Given the description of an element on the screen output the (x, y) to click on. 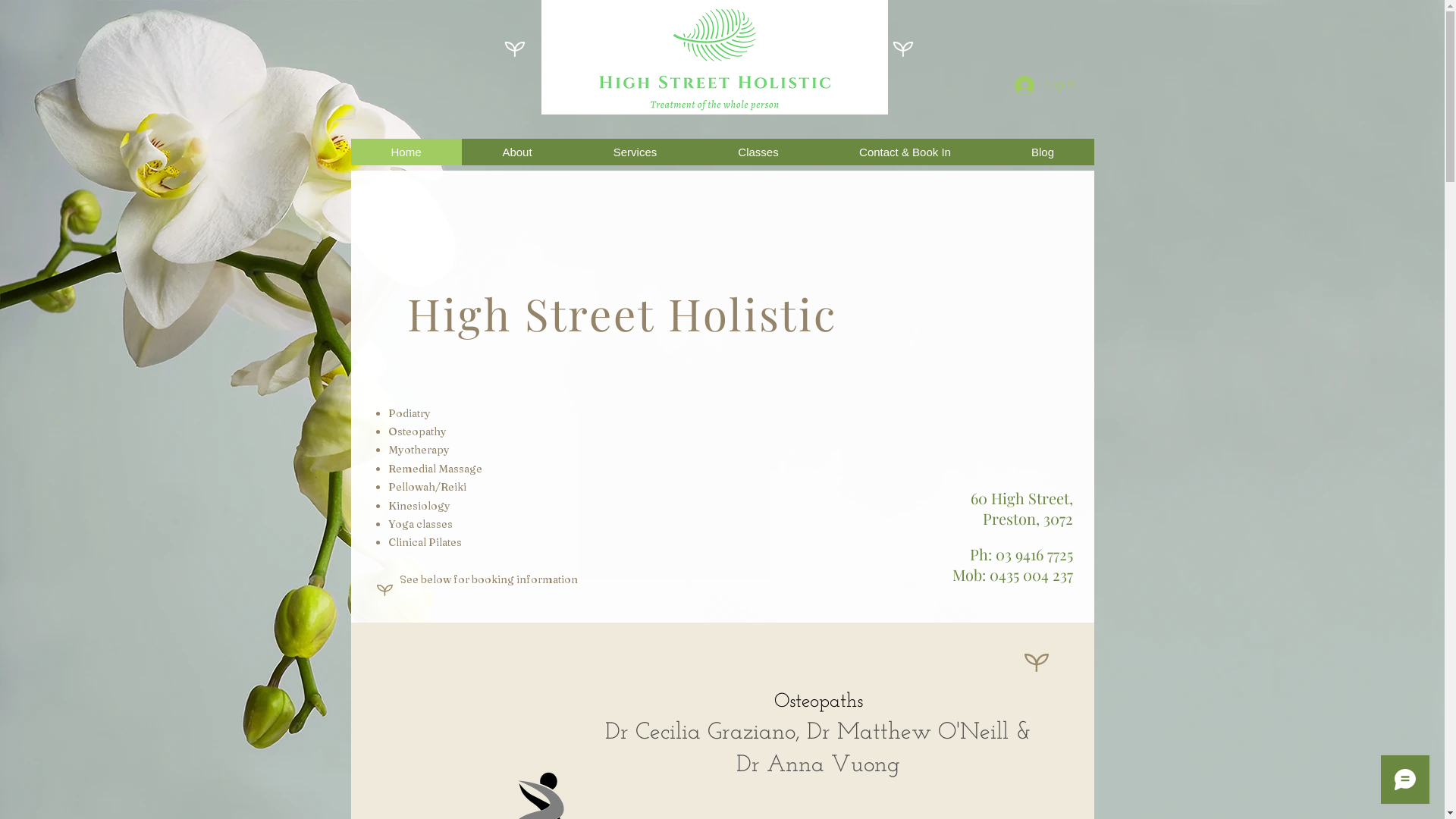
About Element type: text (516, 151)
Treatment of the whole person Element type: text (723, 92)
Home Element type: text (405, 151)
Services Element type: text (633, 151)
Contact & Book In Element type: text (905, 151)
Blog Element type: text (1041, 151)
Log In Element type: text (1045, 85)
